Given the description of an element on the screen output the (x, y) to click on. 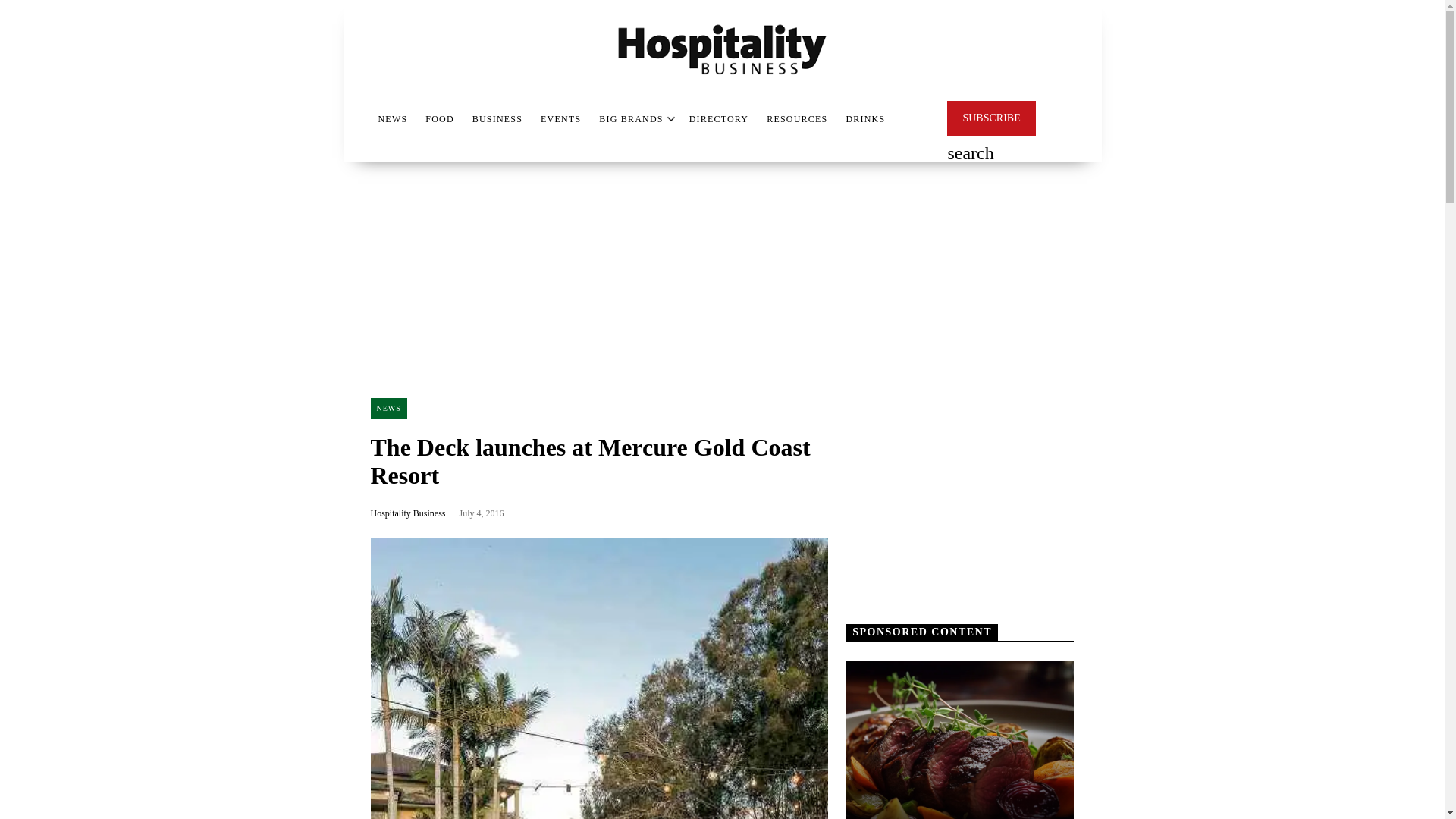
SUBSCRIBE (991, 117)
DRINKS (865, 118)
BIG BRANDS (630, 118)
NEWS (387, 408)
EVENTS (560, 118)
search (969, 154)
3rd party ad content (959, 493)
DIRECTORY (718, 118)
RESOURCES (797, 118)
BUSINESS (496, 118)
